Given the description of an element on the screen output the (x, y) to click on. 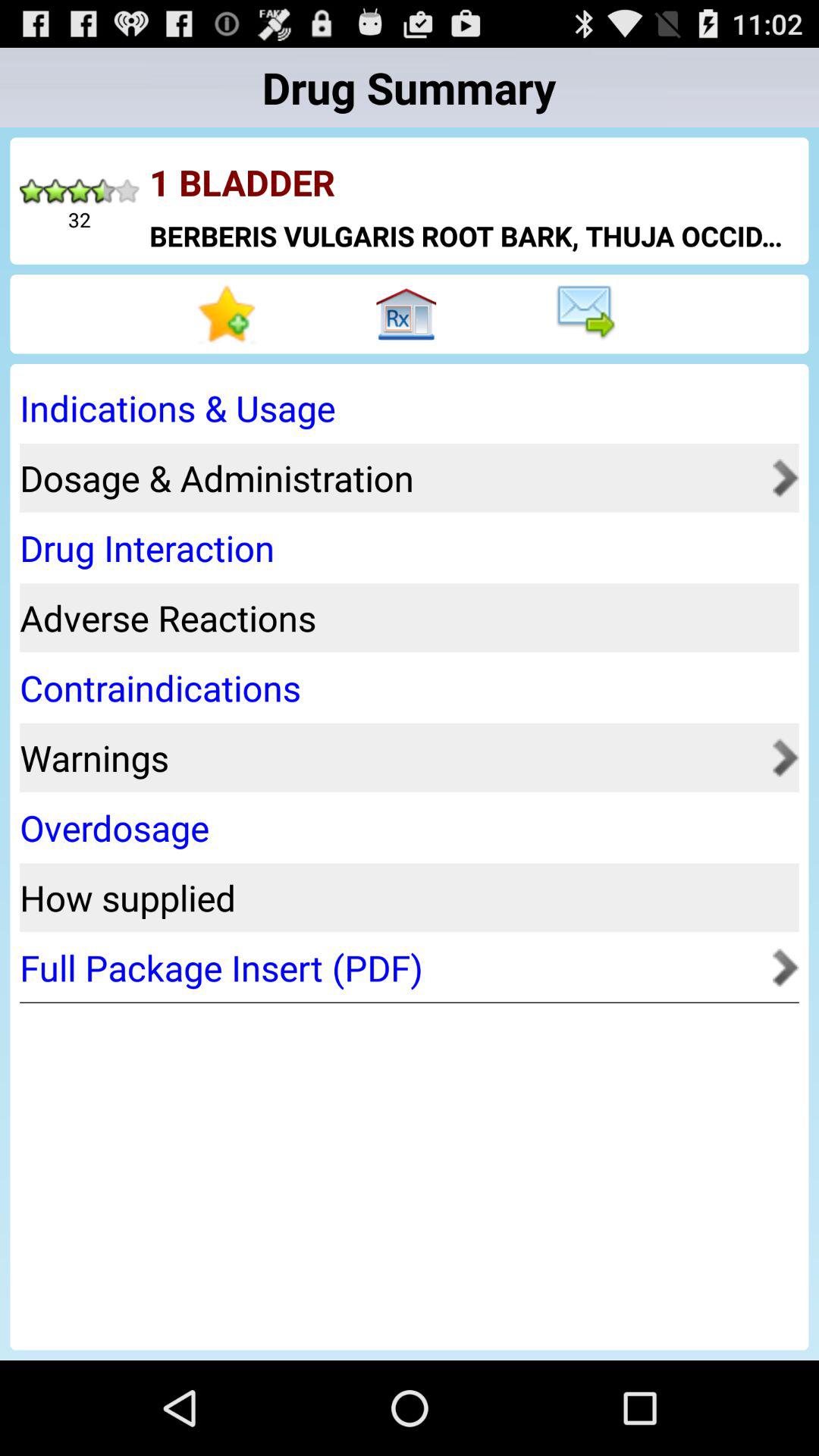
favorite this article (229, 314)
